Given the description of an element on the screen output the (x, y) to click on. 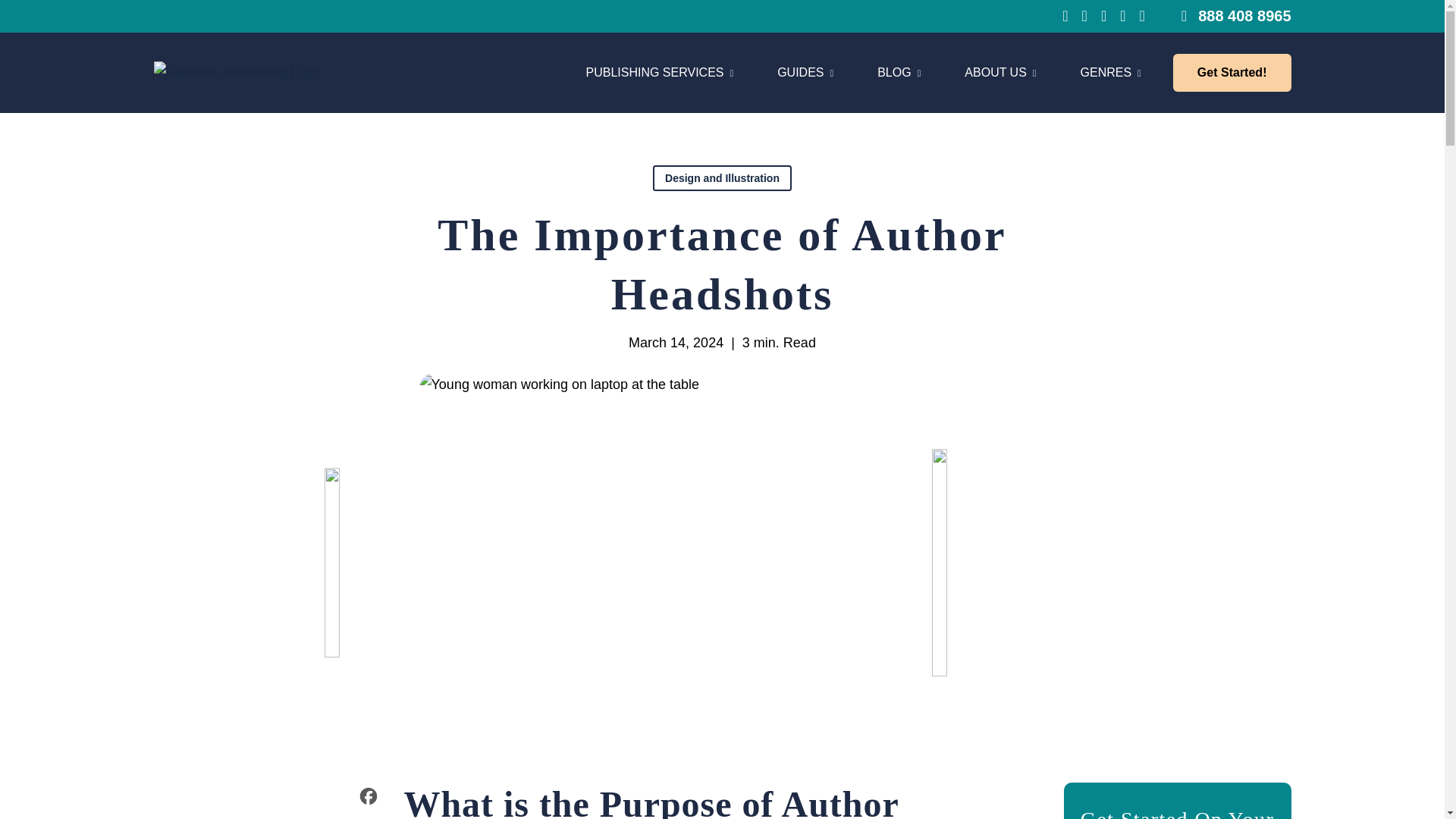
BLOG (899, 72)
888 408 8965 (1235, 15)
ABOUT US (1000, 72)
GUIDES (804, 72)
PUBLISHING SERVICES (866, 72)
Skip Navigation (659, 72)
